Given the description of an element on the screen output the (x, y) to click on. 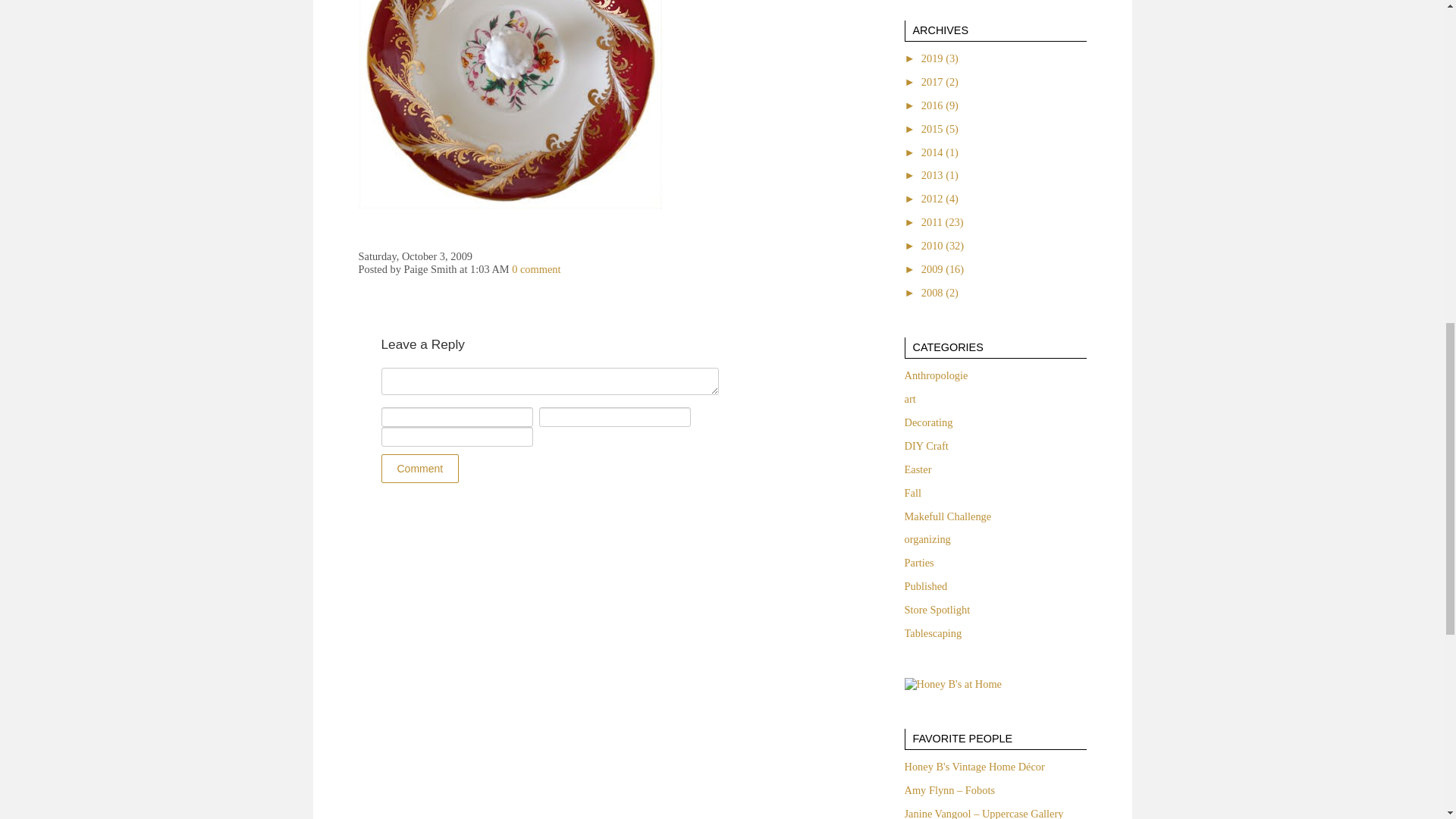
Comment (419, 468)
Comment (419, 468)
Website (456, 436)
0 comment (536, 268)
Comment (548, 380)
